Given the description of an element on the screen output the (x, y) to click on. 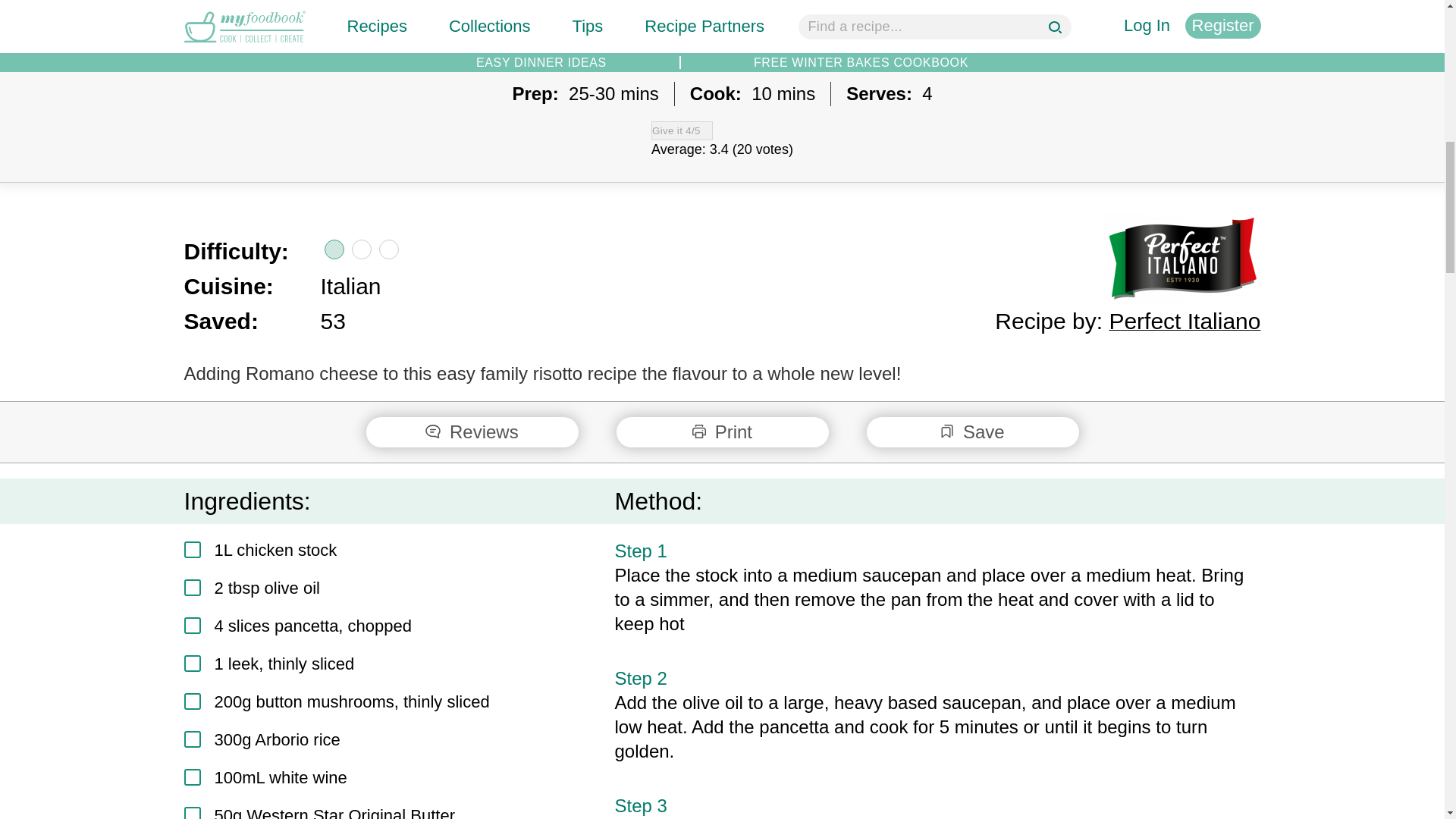
 Print (721, 431)
Review This Recipe (471, 431)
Save Recipe (972, 431)
Perfect Italiano (1184, 320)
 Save (972, 431)
 Reviews (471, 431)
Perfect Italiano recipes on myfoodbook (1181, 257)
Italian (350, 285)
Perfect Italiano (1184, 320)
Pancetta, Leek and Mushroom Risotto (721, 26)
